Given the description of an element on the screen output the (x, y) to click on. 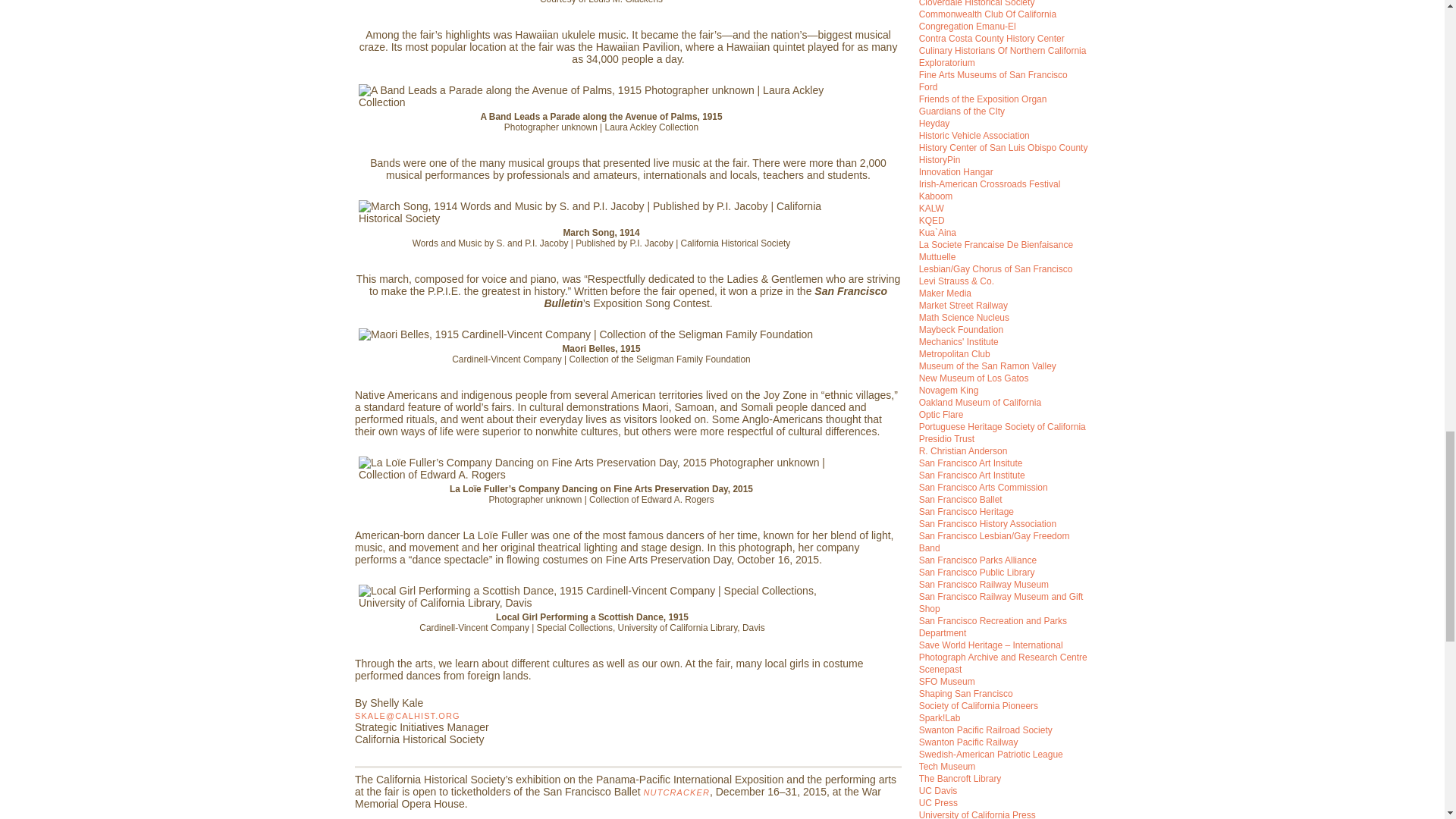
NUTCRACKER (676, 791)
